Given the description of an element on the screen output the (x, y) to click on. 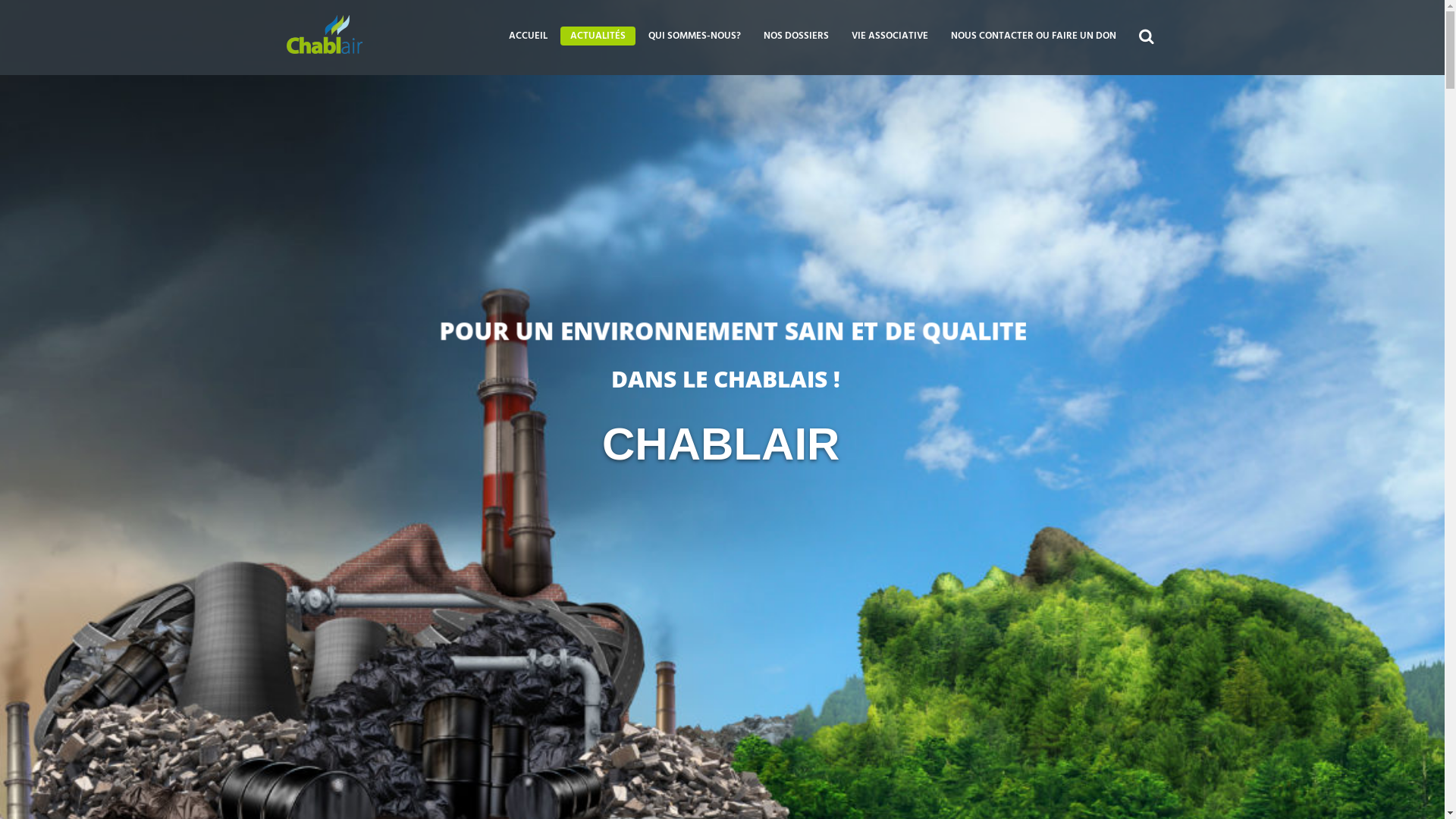
NOUS CONTACTER OU FAIRE UN DON Element type: text (1033, 34)
QUI SOMMES-NOUS? Element type: text (694, 34)
Open/close search form Element type: hover (1146, 33)
ACCUEIL Element type: text (527, 34)
VIE ASSOCIATIVE Element type: text (889, 34)
NOS DOSSIERS Element type: text (795, 34)
